Given the description of an element on the screen output the (x, y) to click on. 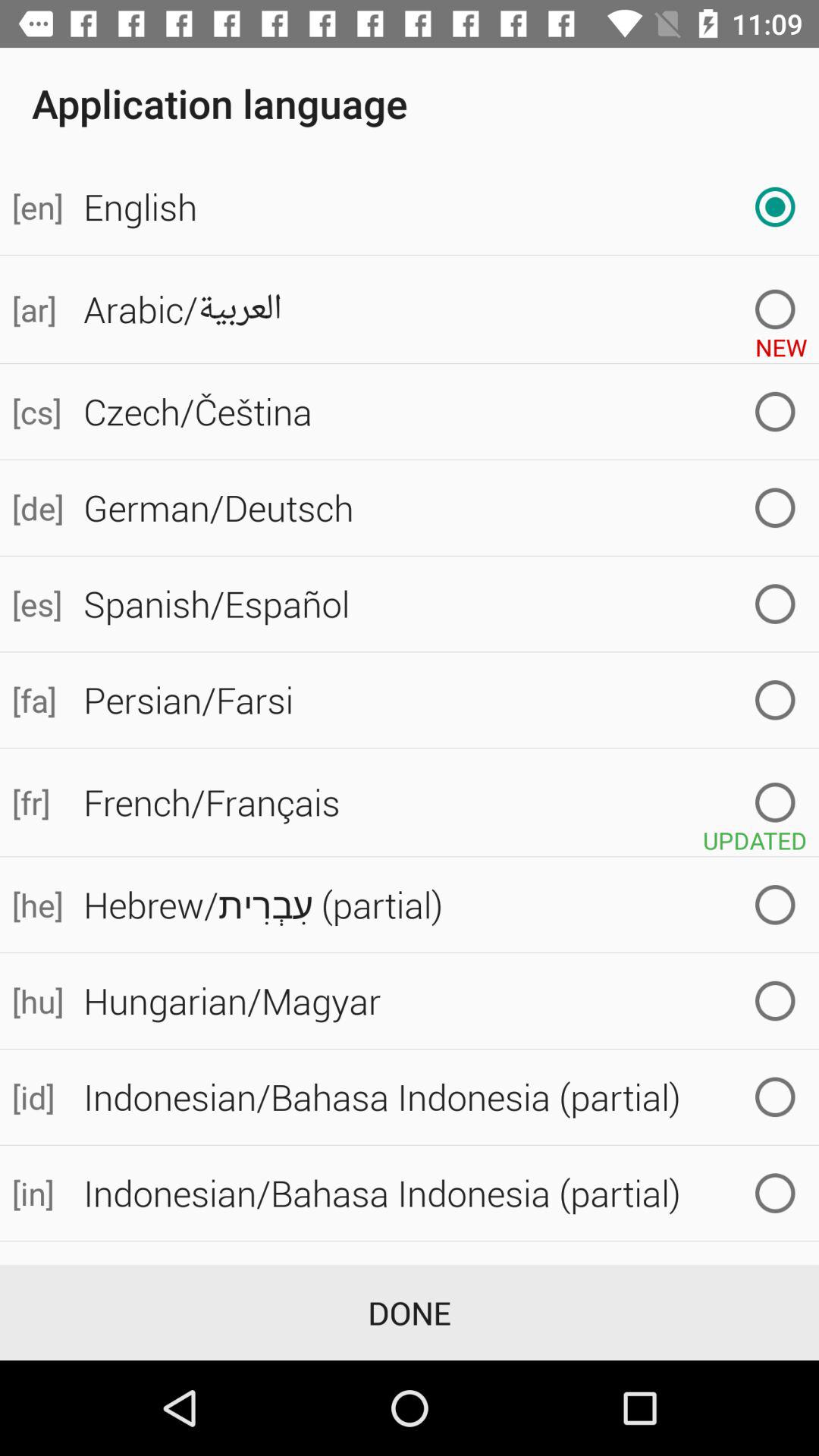
launch the done item (409, 1312)
